Given the description of an element on the screen output the (x, y) to click on. 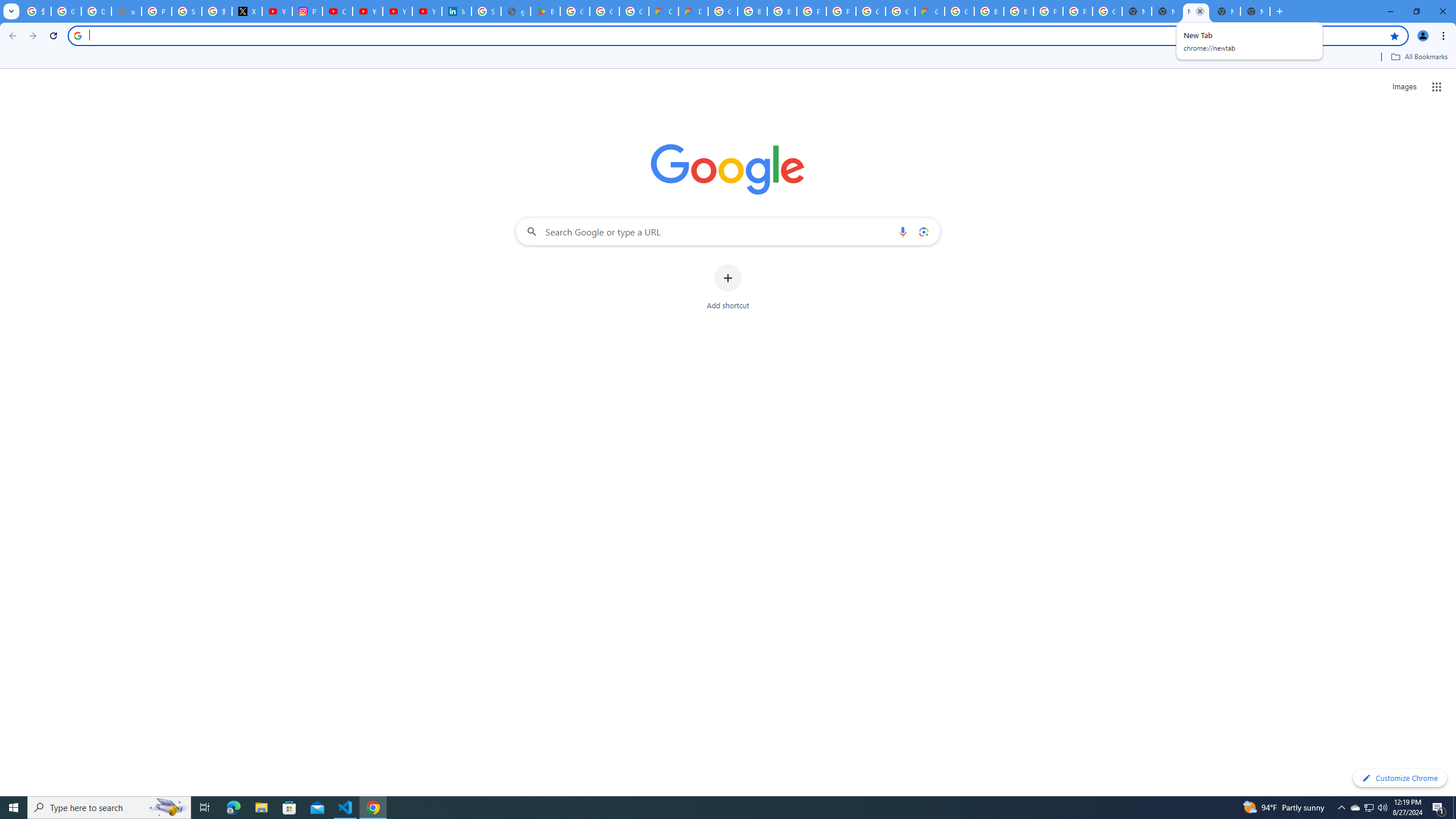
Bookmarks (728, 58)
Google Workspace - Specific Terms (604, 11)
Google Cloud Platform (959, 11)
Customer Care | Google Cloud (663, 11)
Google Workspace - Specific Terms (633, 11)
Sign in - Google Accounts (185, 11)
Google Cloud Estimate Summary (929, 11)
Sign in - Google Accounts (485, 11)
